Given the description of an element on the screen output the (x, y) to click on. 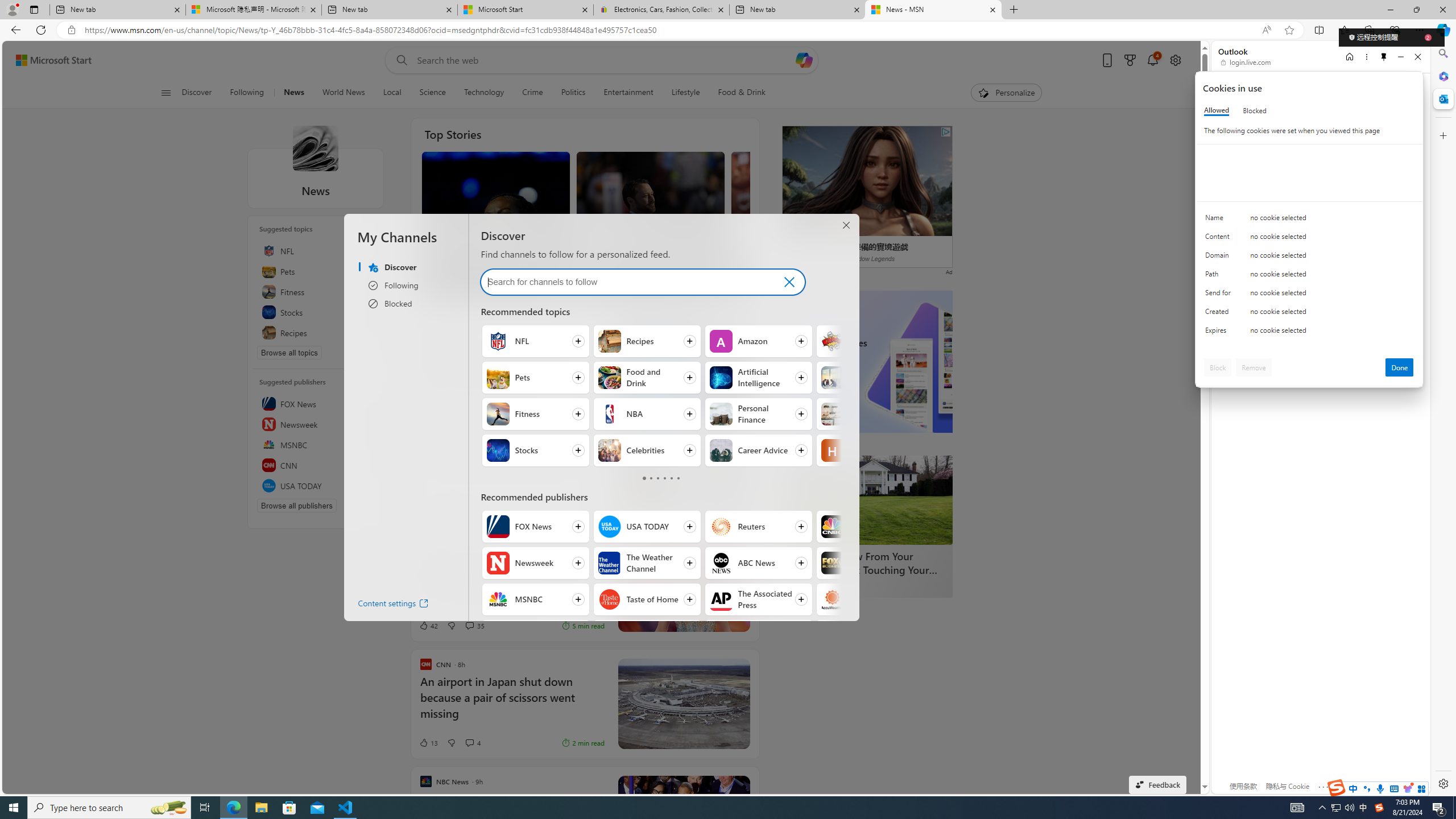
13 Like (427, 742)
Microsoft rewards (1129, 60)
Follow Artificial Intelligence (758, 377)
News (314, 148)
Local (391, 92)
How To Borrow From Your Home Without Touching Your Mortgage (866, 562)
Reuters (720, 526)
App bar (728, 29)
Follow Home Decor (869, 413)
Use AI To Find Relevant Comps (683, 479)
Follow Comics (869, 341)
Outlook (1442, 98)
The Associated Press (720, 599)
